Given the description of an element on the screen output the (x, y) to click on. 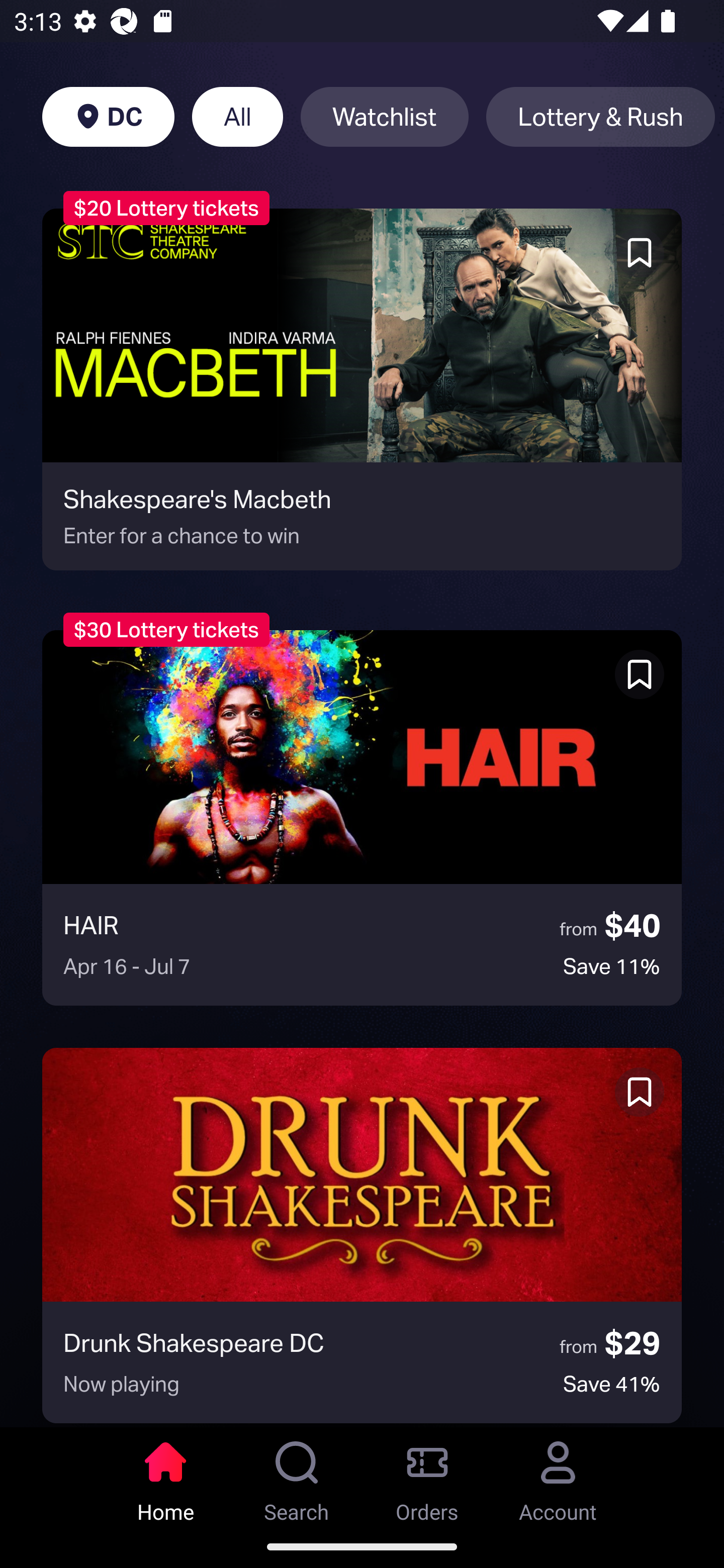
DC (107, 116)
All (237, 116)
Watchlist (384, 116)
Lottery & Rush (600, 116)
Shakespeare's Macbeth Enter for a chance to win  (361, 389)
HAIR from $40 Apr 16 - Jul 7 Save 11% (361, 817)
Drunk Shakespeare DC from $29 Now playing Save 41% (361, 1235)
Search (296, 1475)
Orders (427, 1475)
Account (558, 1475)
